Given the description of an element on the screen output the (x, y) to click on. 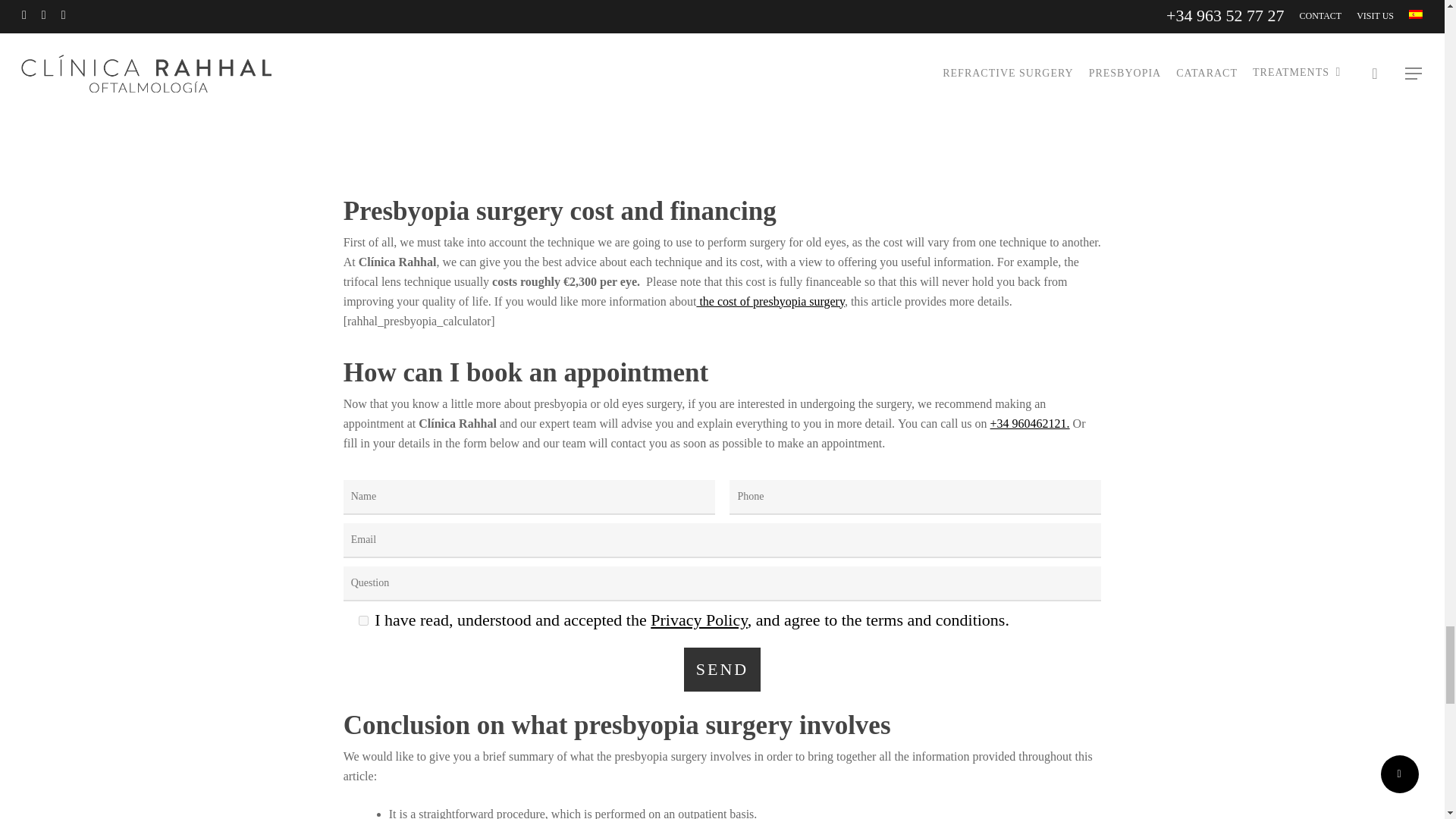
1 (363, 620)
Send (722, 669)
